Given the description of an element on the screen output the (x, y) to click on. 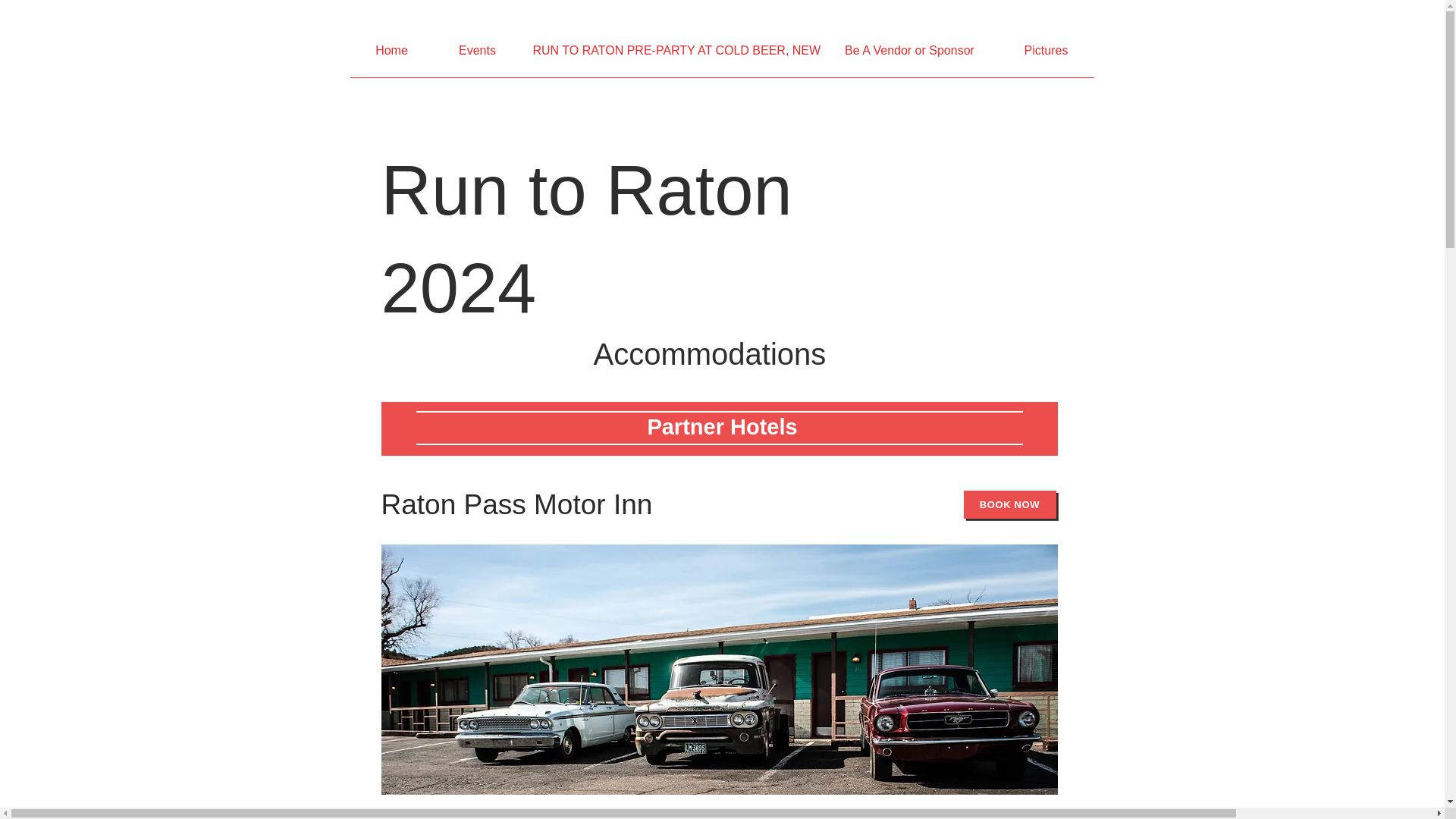
RUN TO RATON PRE-PARTY AT COLD BEER, NEW (671, 55)
Raton Pass Motor Inn (516, 504)
Pictures (1045, 55)
BOOK NOW (1008, 504)
Home (391, 55)
